Given the description of an element on the screen output the (x, y) to click on. 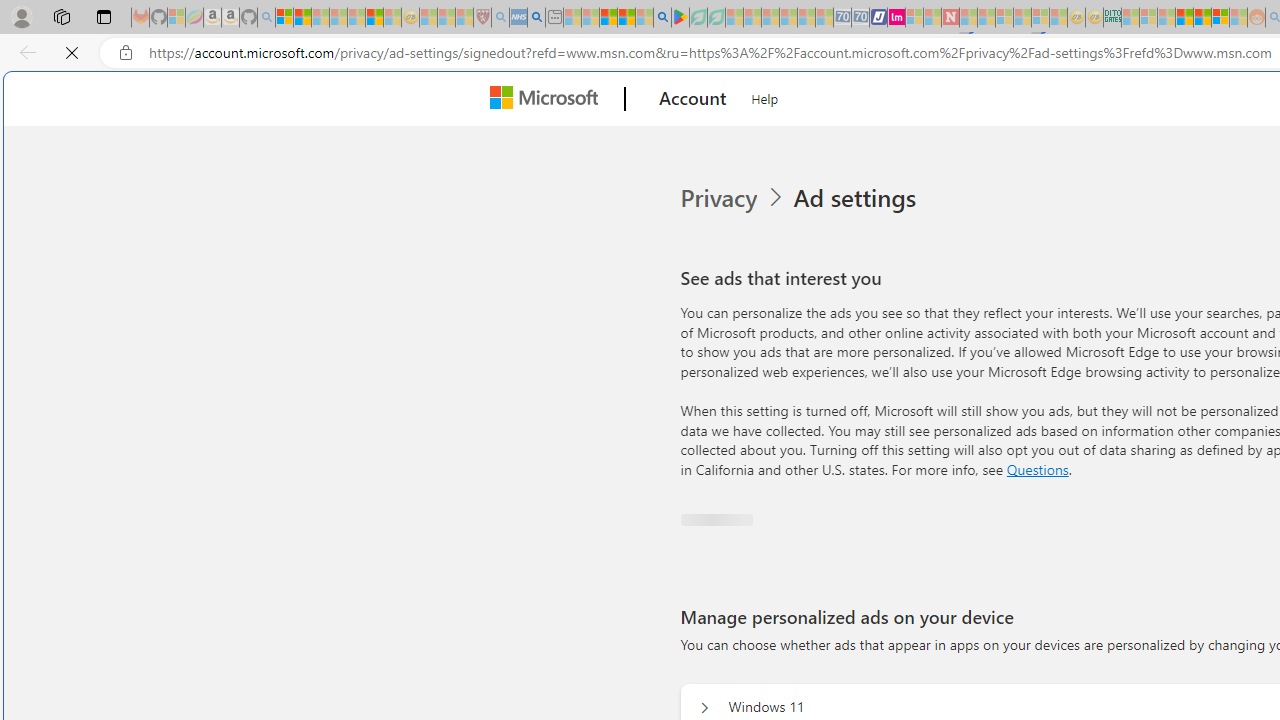
Microsoft (548, 99)
Pets - MSN (626, 17)
Expert Portfolios (1184, 17)
Latest Politics News & Archive | Newsweek.com - Sleeping (950, 17)
Kinda Frugal - MSN (1202, 17)
MSNBC - MSN - Sleeping (1130, 17)
